Given the description of an element on the screen output the (x, y) to click on. 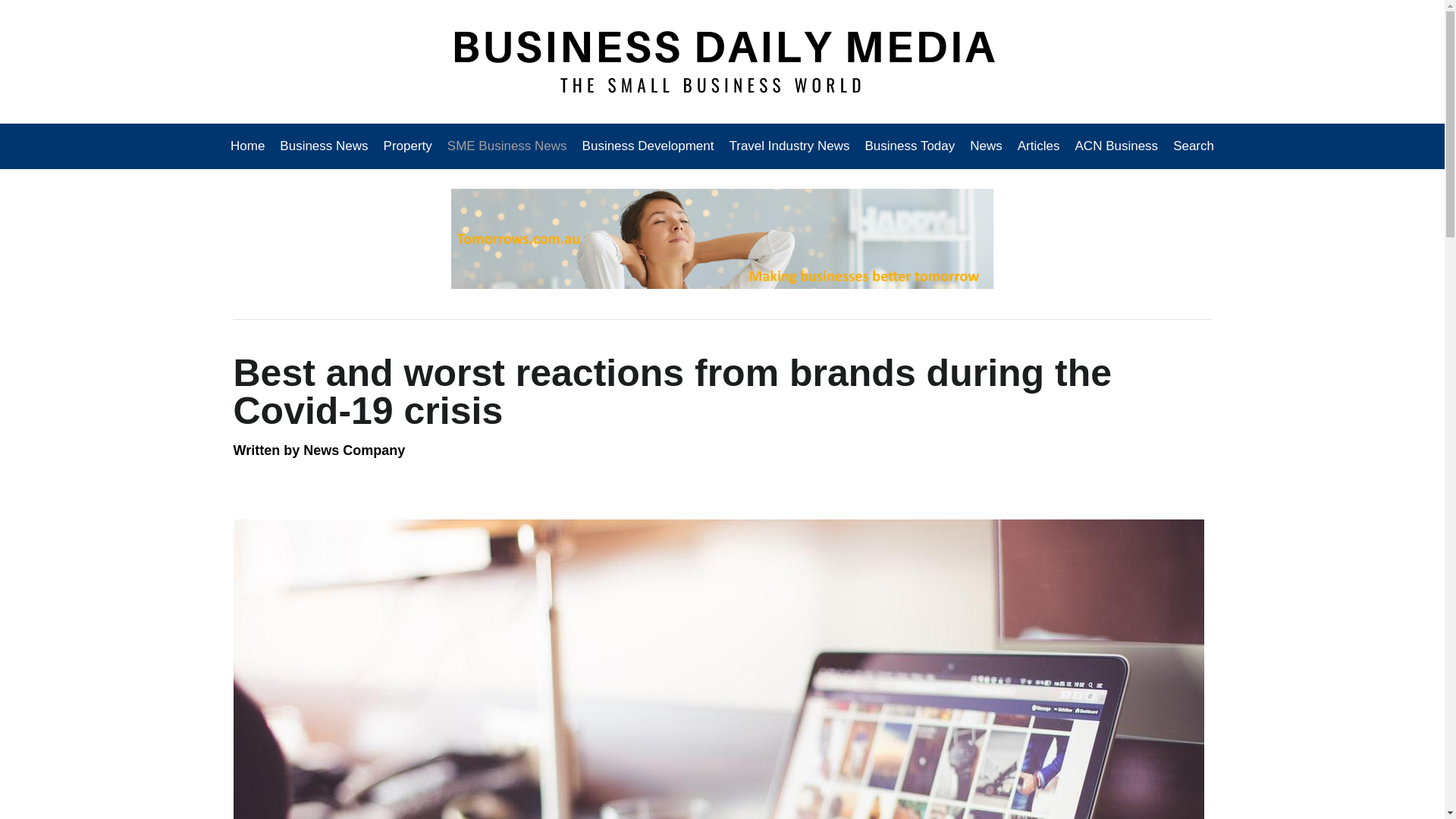
Property (407, 145)
Articles (1038, 145)
SME Business News (507, 145)
Travel Industry News (788, 145)
Business News (323, 145)
ACN Business (1116, 145)
Home (251, 145)
Search (1190, 145)
Business Development (648, 145)
Business Today (909, 145)
News (986, 145)
